Given the description of an element on the screen output the (x, y) to click on. 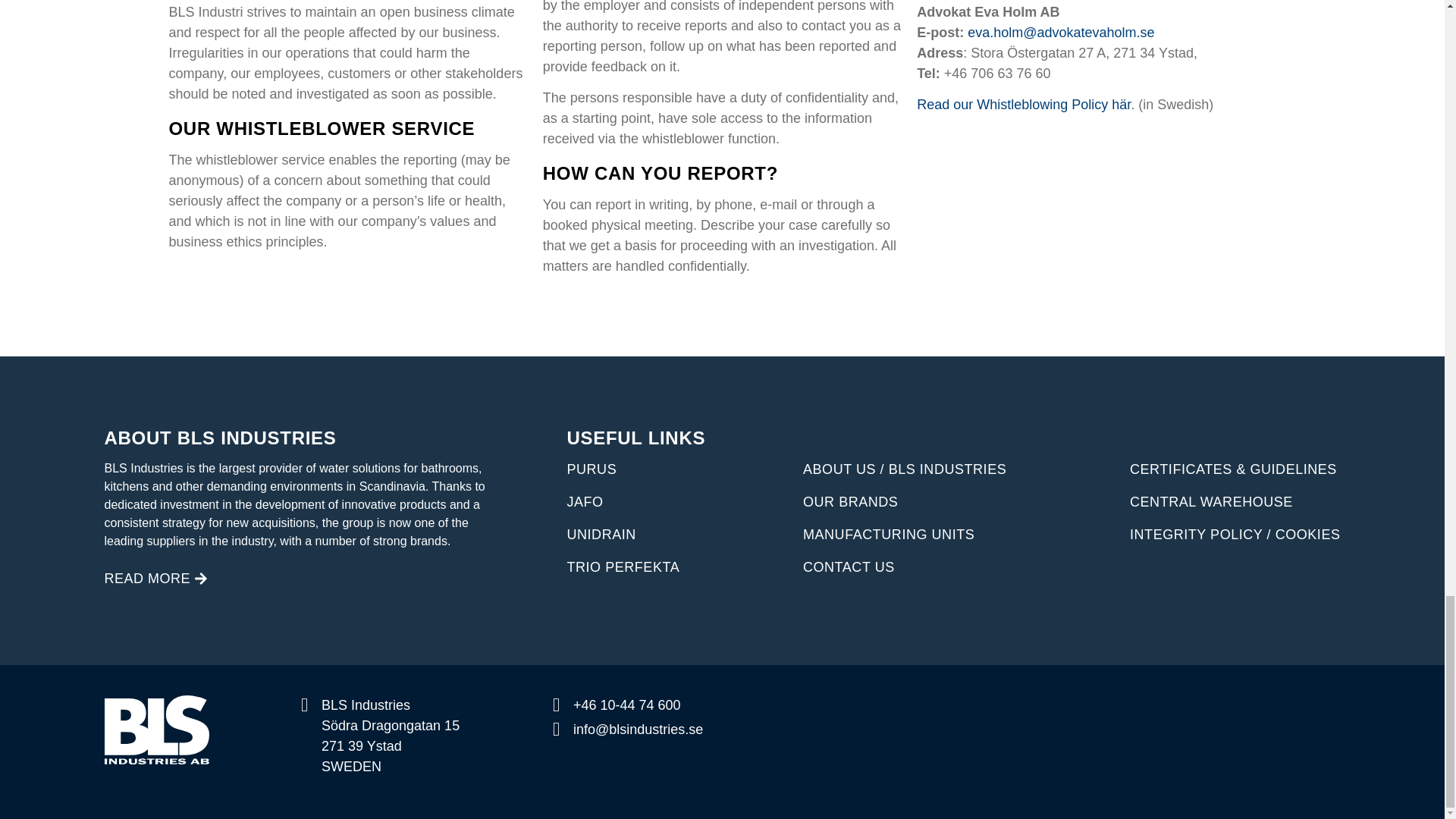
READ MORE (156, 579)
